Given the description of an element on the screen output the (x, y) to click on. 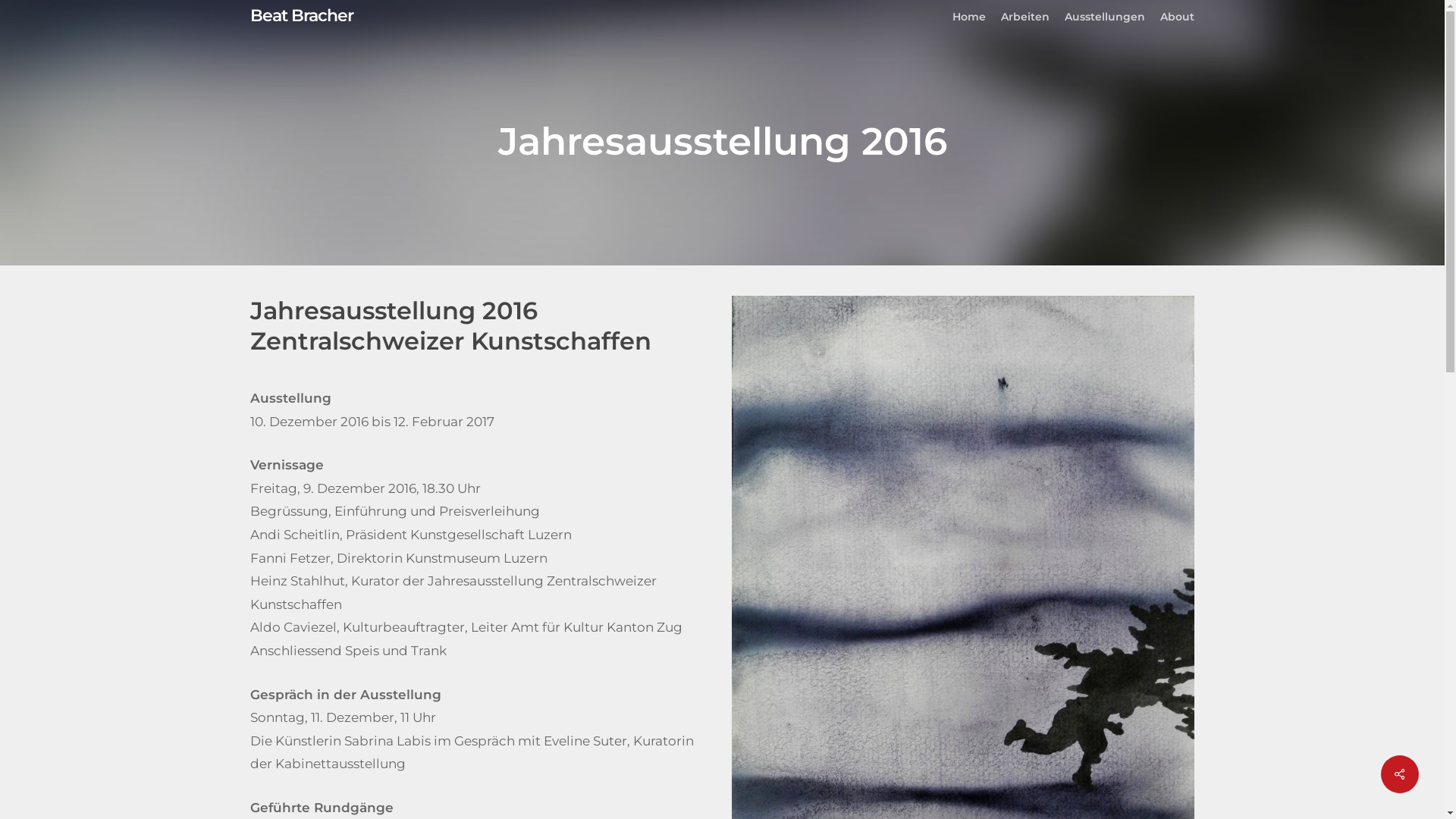
Beat Bracher Element type: text (301, 15)
Home Element type: text (968, 16)
Arbeiten Element type: text (1025, 16)
About Element type: text (1177, 16)
Ausstellungen Element type: text (1104, 16)
